Given the description of an element on the screen output the (x, y) to click on. 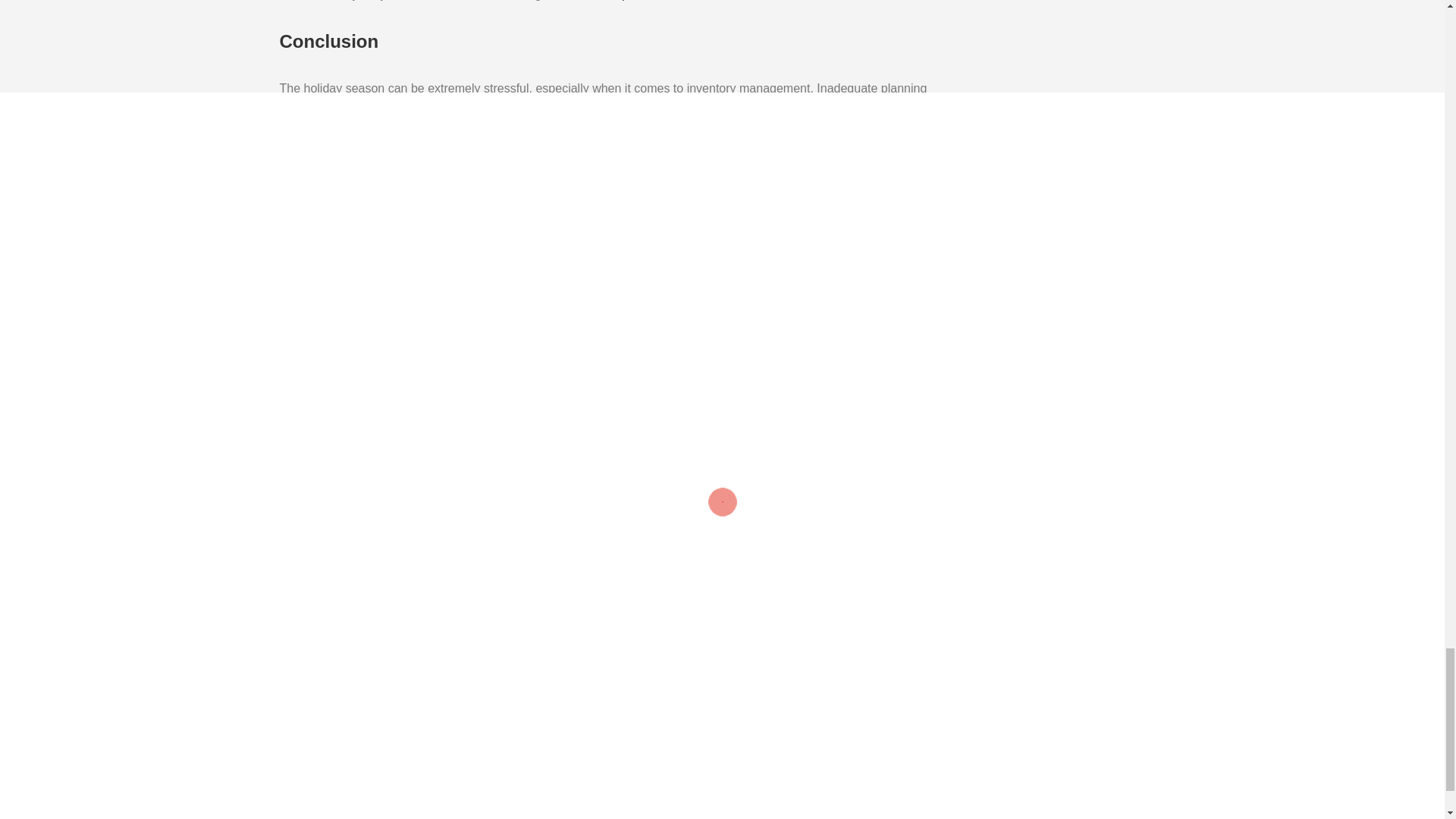
seasonal shopping (540, 404)
Click here (597, 297)
holiday shoppers (347, 404)
Posts by Andrew Page (608, 641)
retail holiday season (443, 404)
Andrew Page (608, 641)
